Given the description of an element on the screen output the (x, y) to click on. 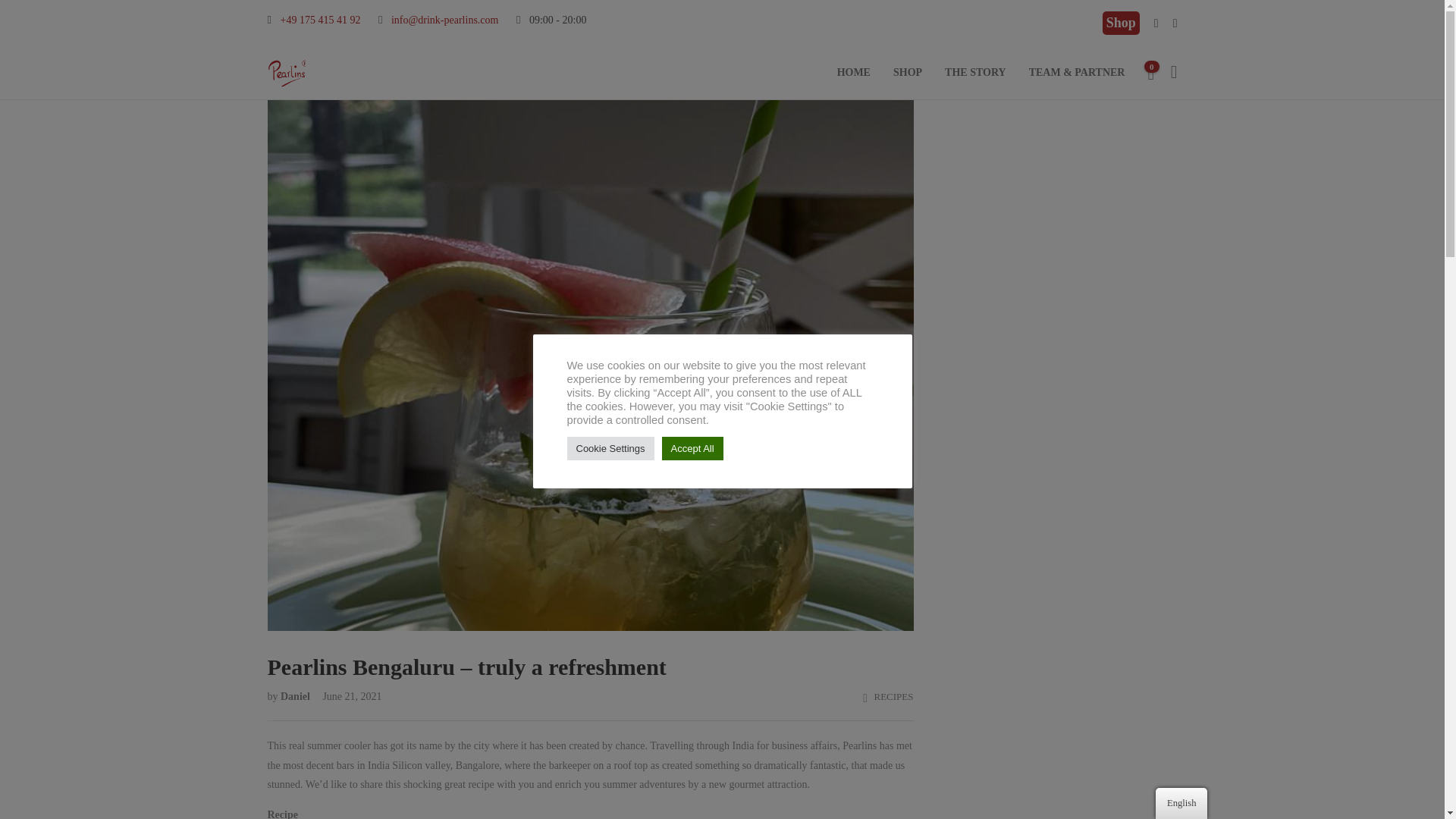
THE STORY (975, 72)
Shop (1116, 22)
June 21, 2021 (347, 696)
RECIPES (892, 696)
Daniel (297, 696)
